Given the description of an element on the screen output the (x, y) to click on. 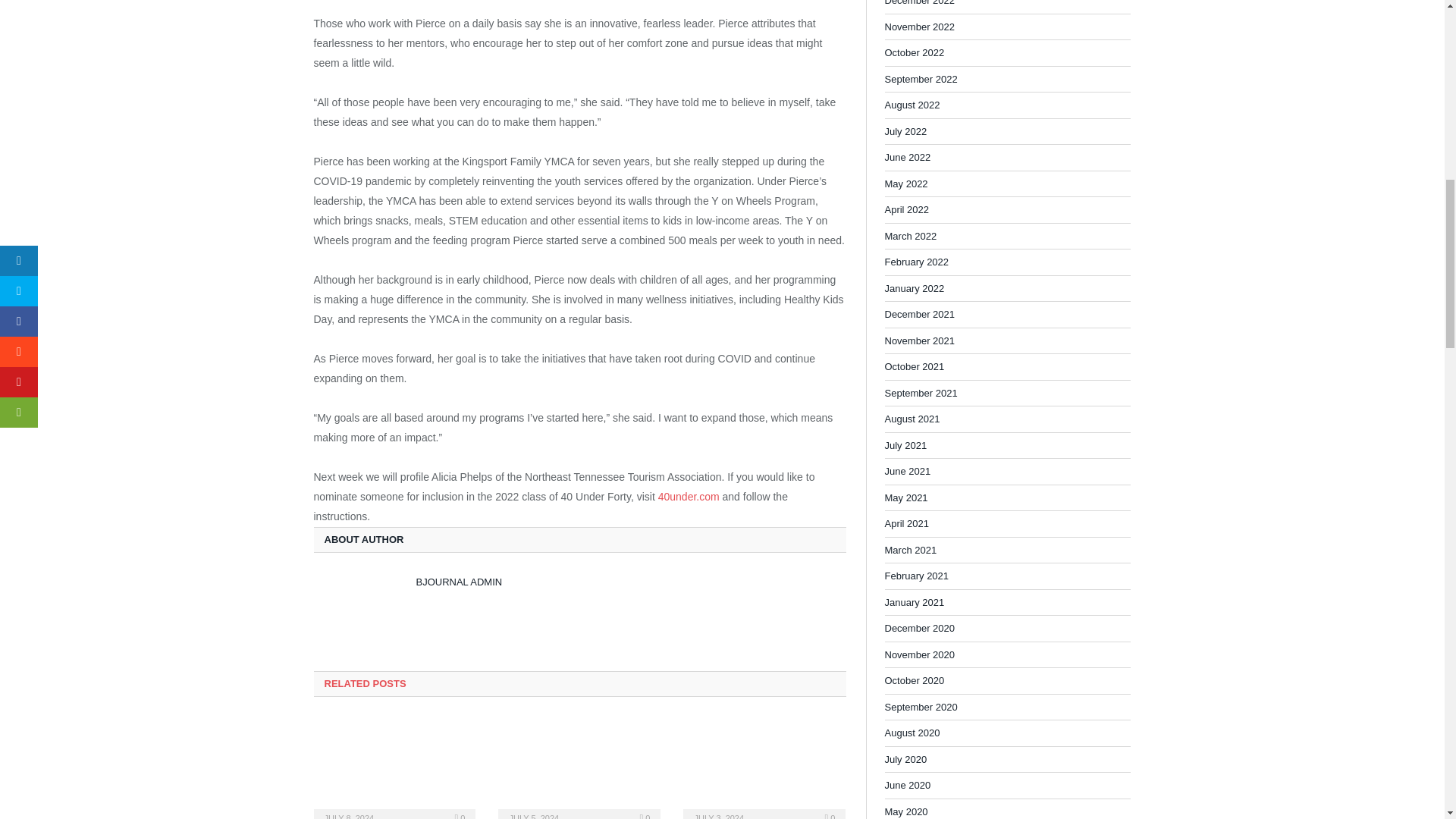
Posts by BJournal Admin (458, 582)
BJOURNAL ADMIN (458, 582)
40under.com (688, 496)
0 (459, 816)
